Given the description of an element on the screen output the (x, y) to click on. 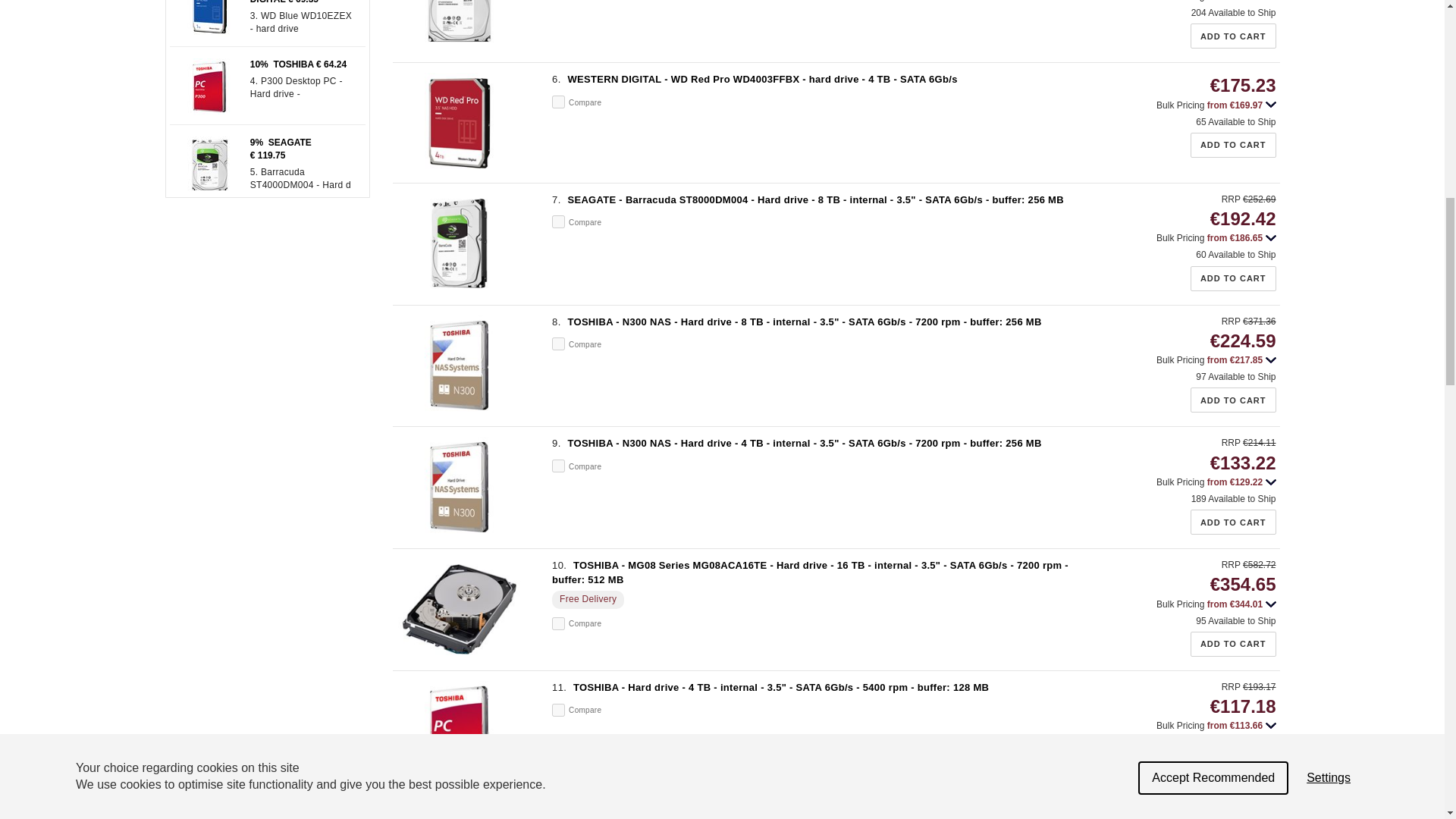
on (557, 465)
on (557, 101)
Add to Cart (1233, 145)
Add to Cart (1233, 399)
on (557, 221)
Add to Cart (1233, 278)
Settings (1328, 2)
on (557, 343)
Accept Recommended (1213, 5)
Add to Cart (1233, 35)
